Given the description of an element on the screen output the (x, y) to click on. 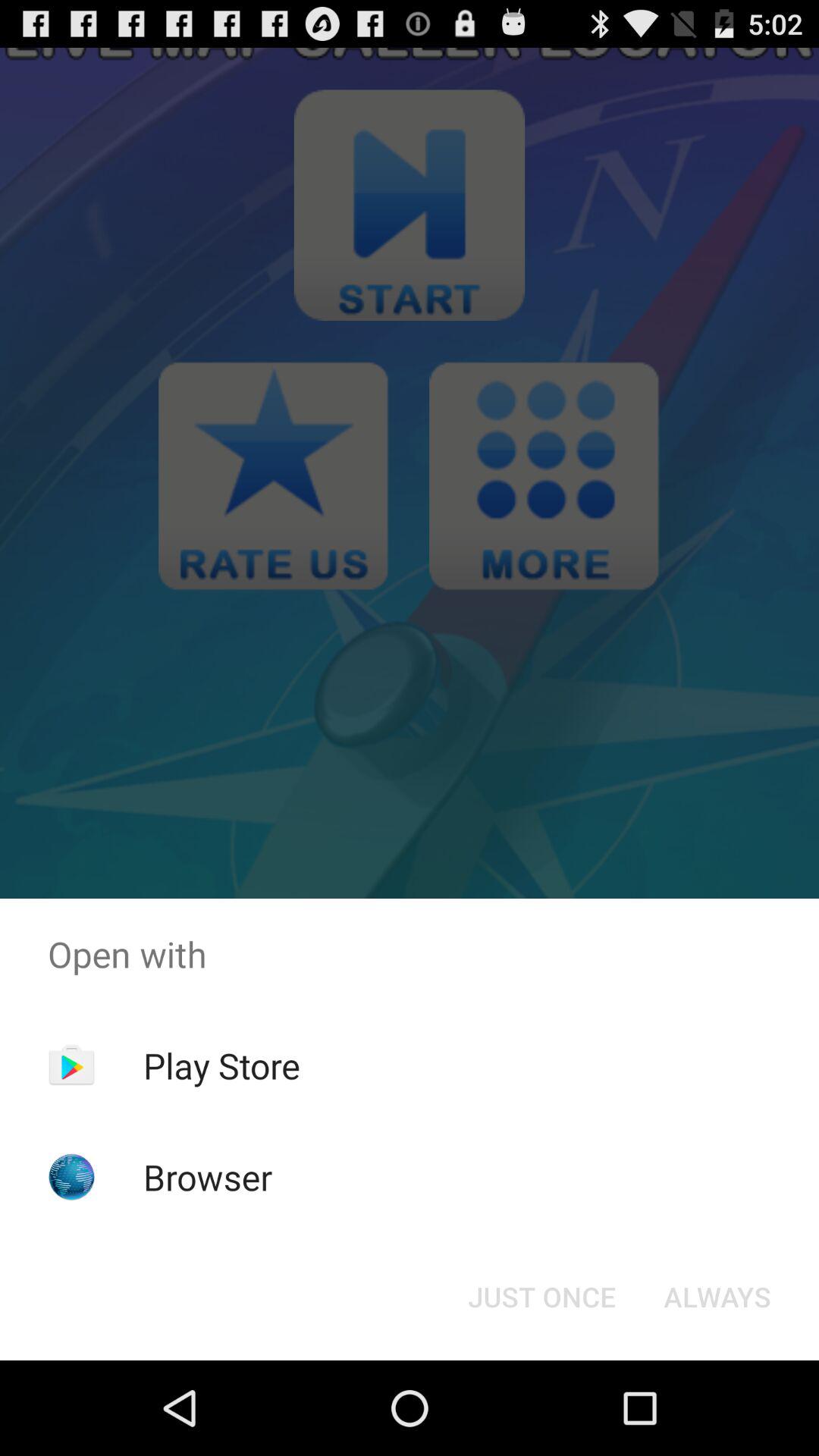
turn off play store item (221, 1065)
